Given the description of an element on the screen output the (x, y) to click on. 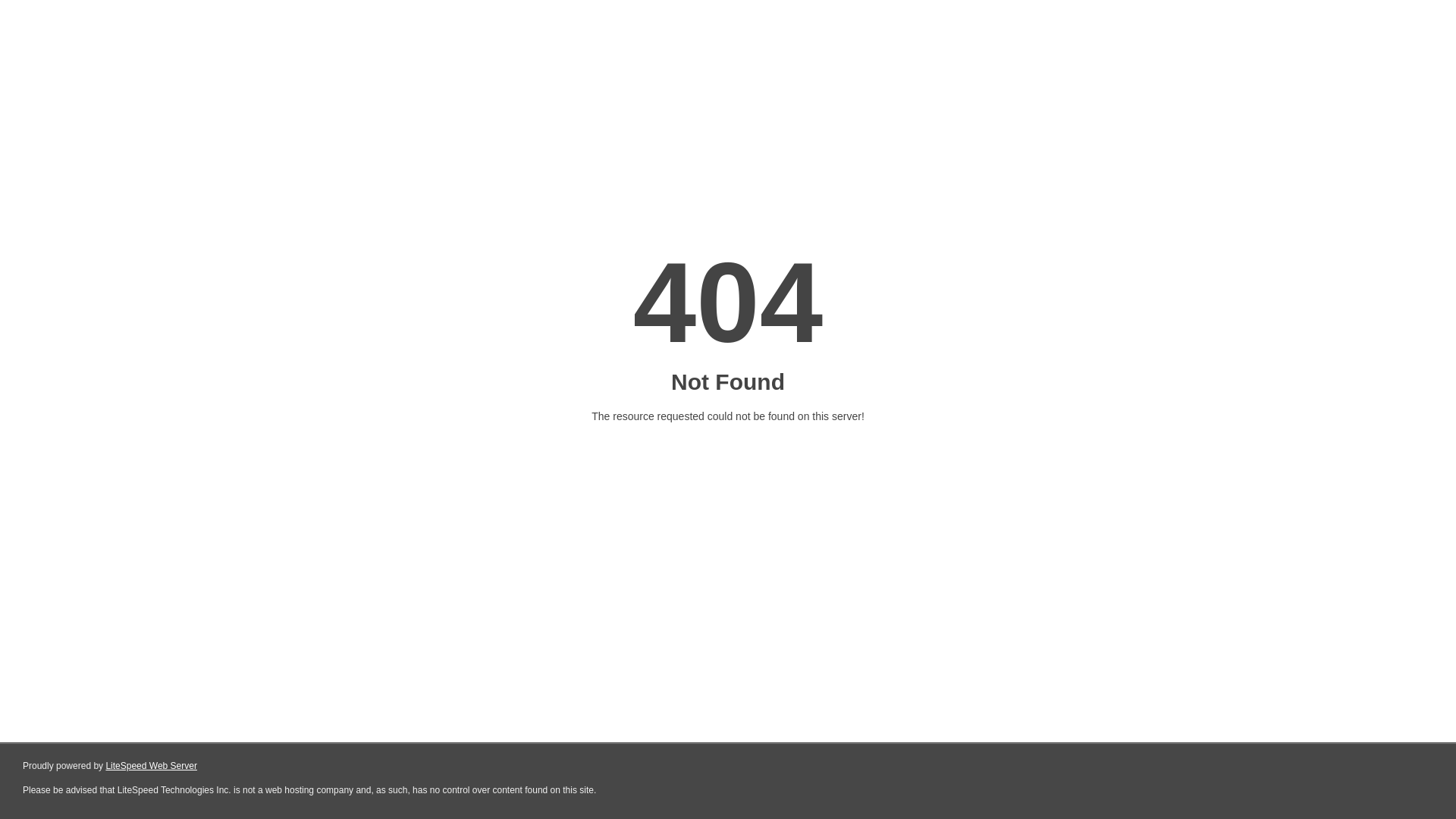
LiteSpeed Web Server Element type: text (151, 765)
